Given the description of an element on the screen output the (x, y) to click on. 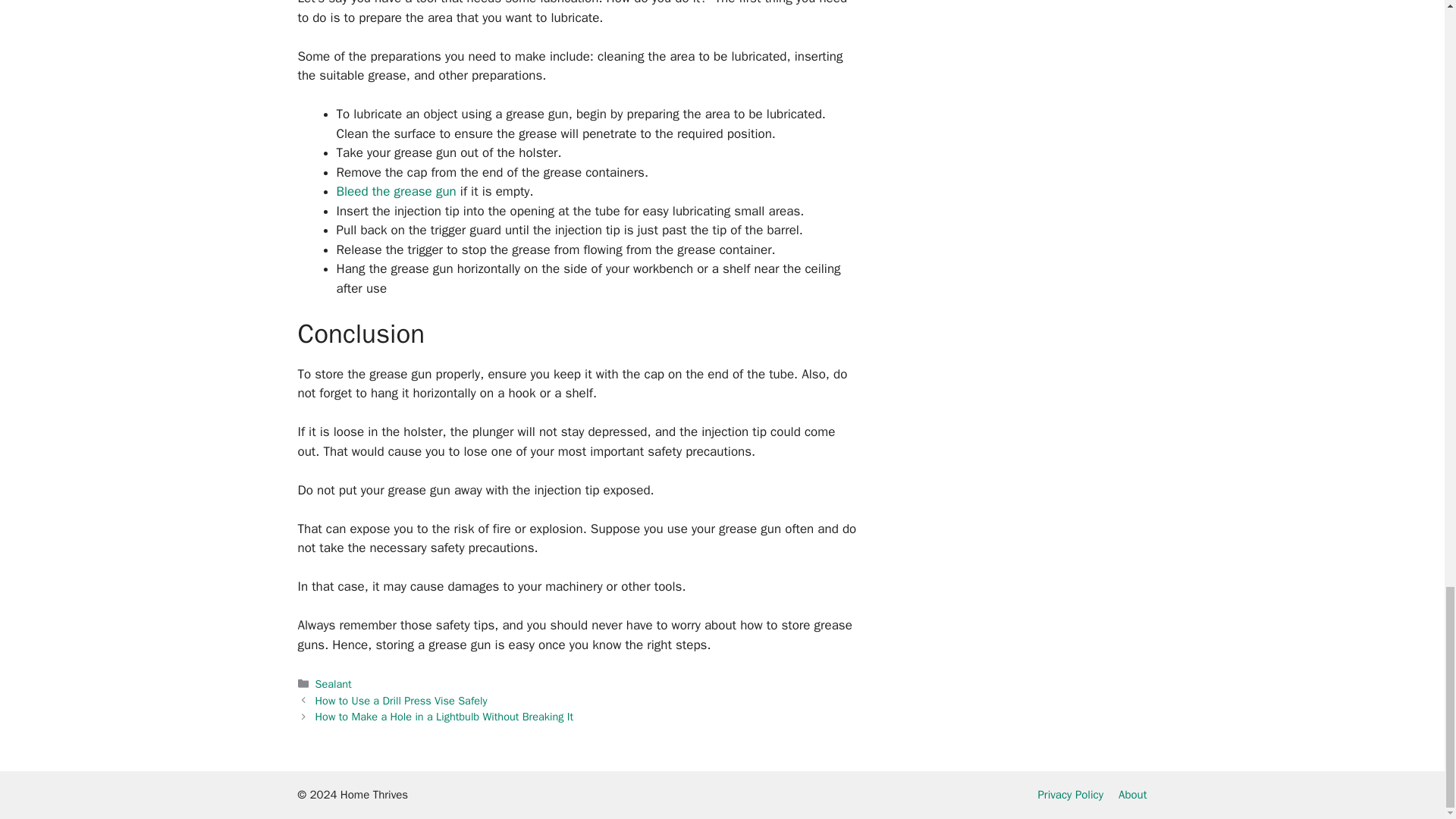
About (1132, 794)
Privacy Policy (1069, 794)
Bleed the grease gun (396, 191)
Sealant (333, 684)
How to Use a Drill Press Vise Safely (401, 700)
How to Make a Hole in a Lightbulb Without Breaking It (444, 716)
